Given the description of an element on the screen output the (x, y) to click on. 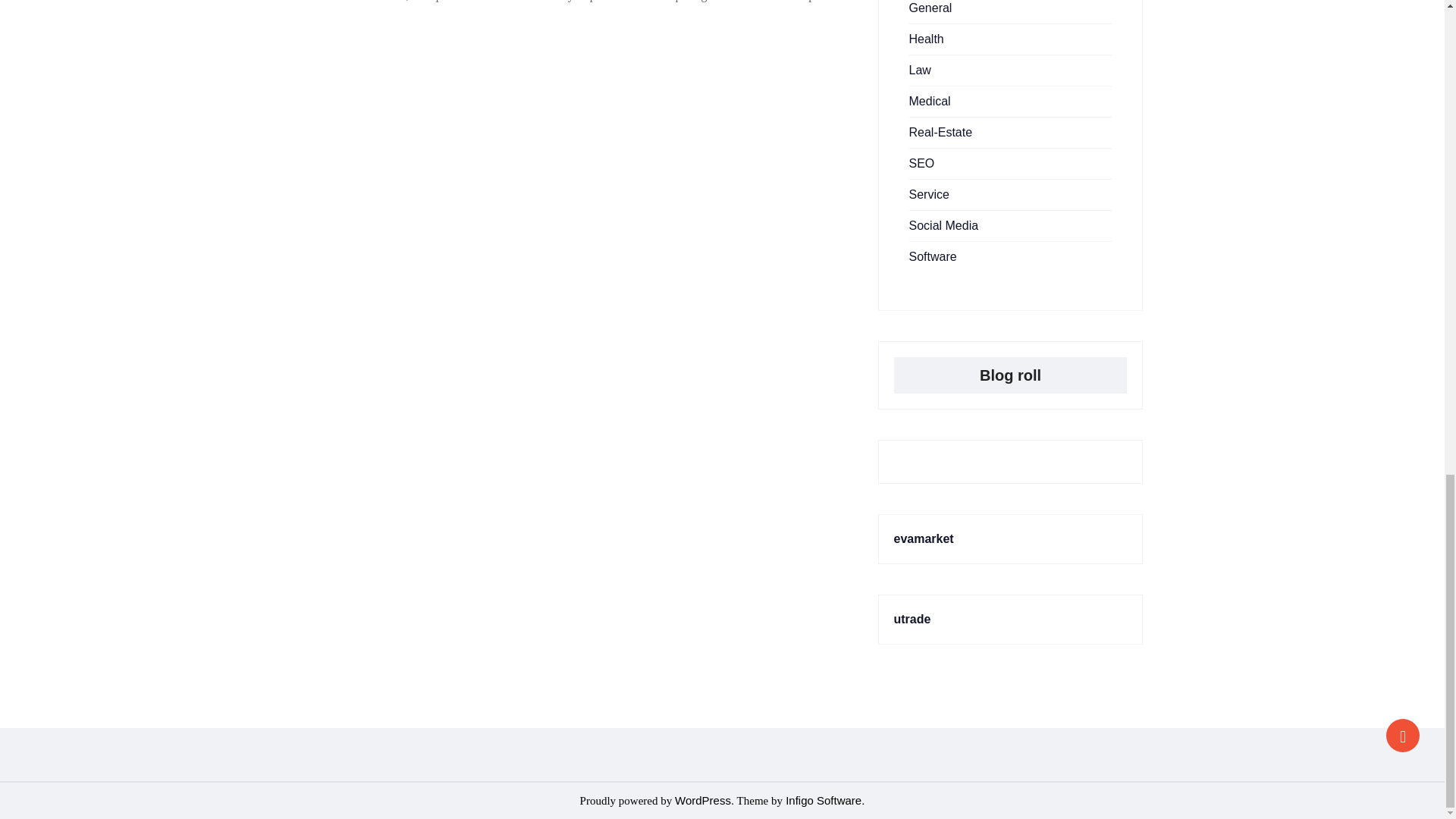
Law (919, 69)
Real-Estate (940, 132)
General (930, 7)
Software (932, 256)
SEO (921, 163)
Service (928, 194)
Social Media (943, 225)
Medical (929, 101)
Health (925, 38)
